Given the description of an element on the screen output the (x, y) to click on. 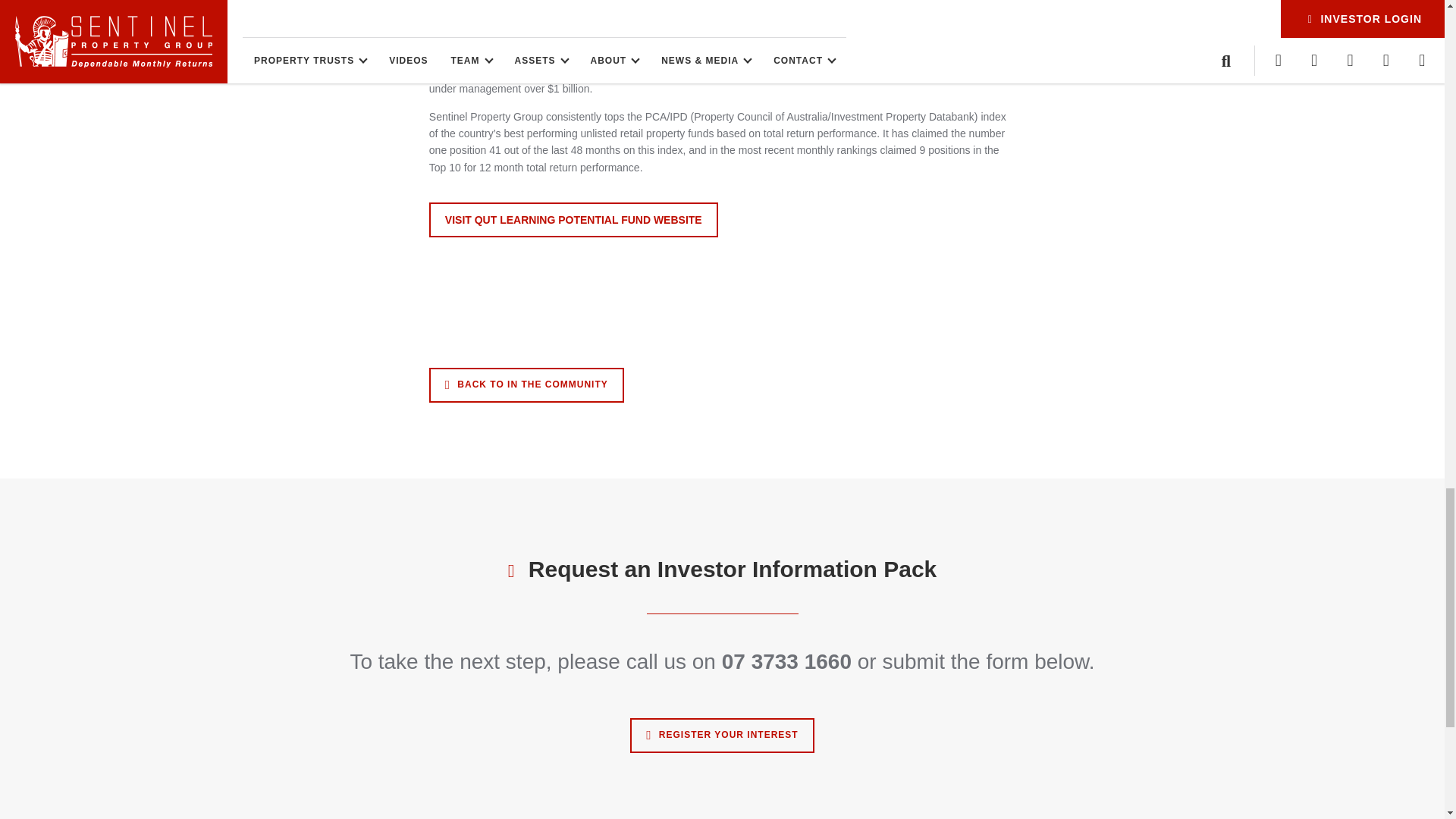
Visit QUT Learning Potential Fund website (573, 219)
